Given the description of an element on the screen output the (x, y) to click on. 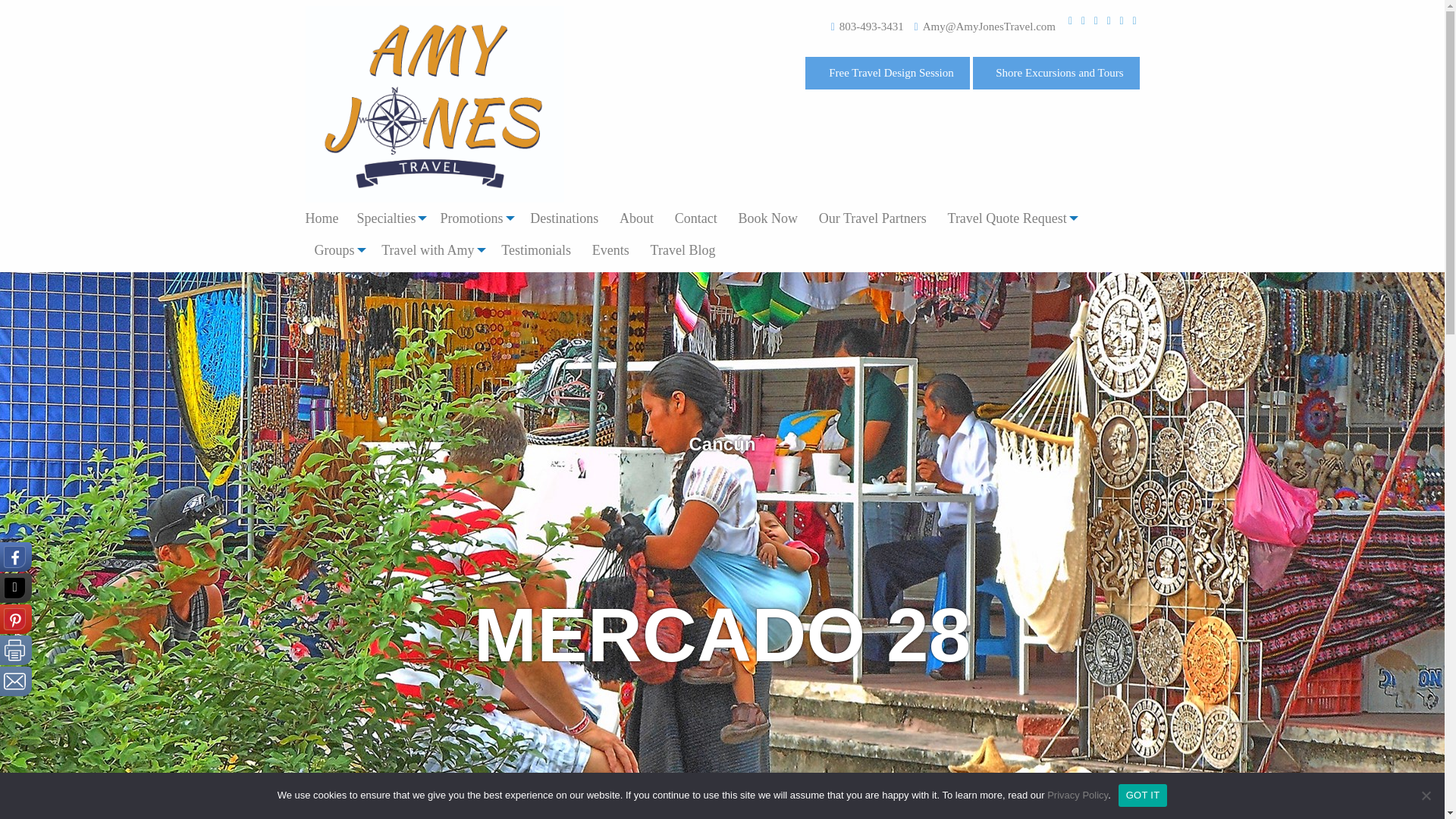
No (1425, 795)
Amy Jones Travel (433, 103)
